Given the description of an element on the screen output the (x, y) to click on. 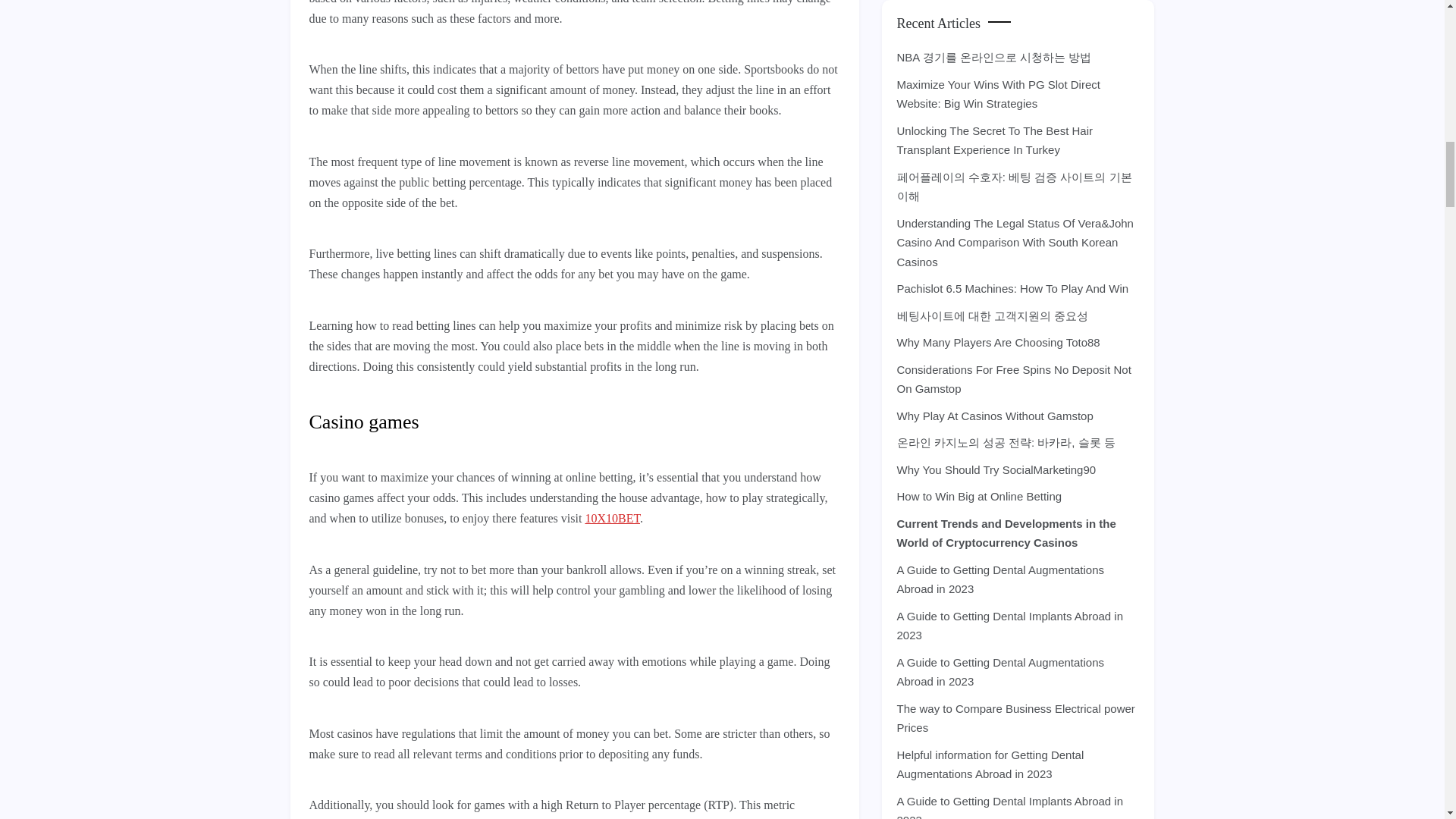
10X10BET (612, 517)
